Given the description of an element on the screen output the (x, y) to click on. 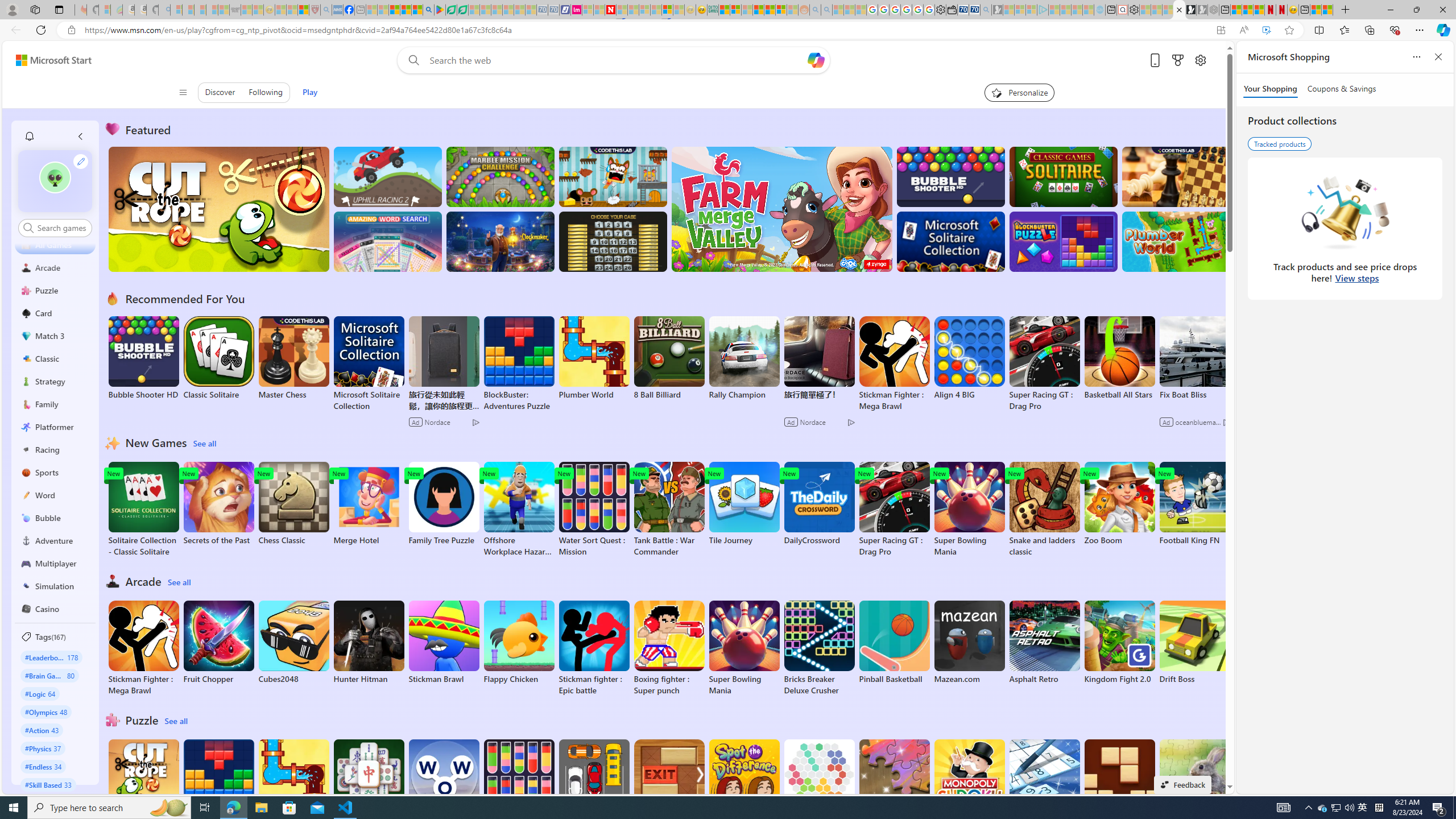
#Action 43 (42, 730)
Bluey: Let's Play! - Apps on Google Play (439, 9)
#Olympics 48 (46, 711)
Stickman fighter : Epic battle (593, 648)
App available. Install Games from Microsoft Start (1220, 29)
""'s avatar (55, 177)
Hunter Hitman (368, 642)
Mazean.com (968, 642)
Offshore Workplace Hazard Game (518, 509)
